Given the description of an element on the screen output the (x, y) to click on. 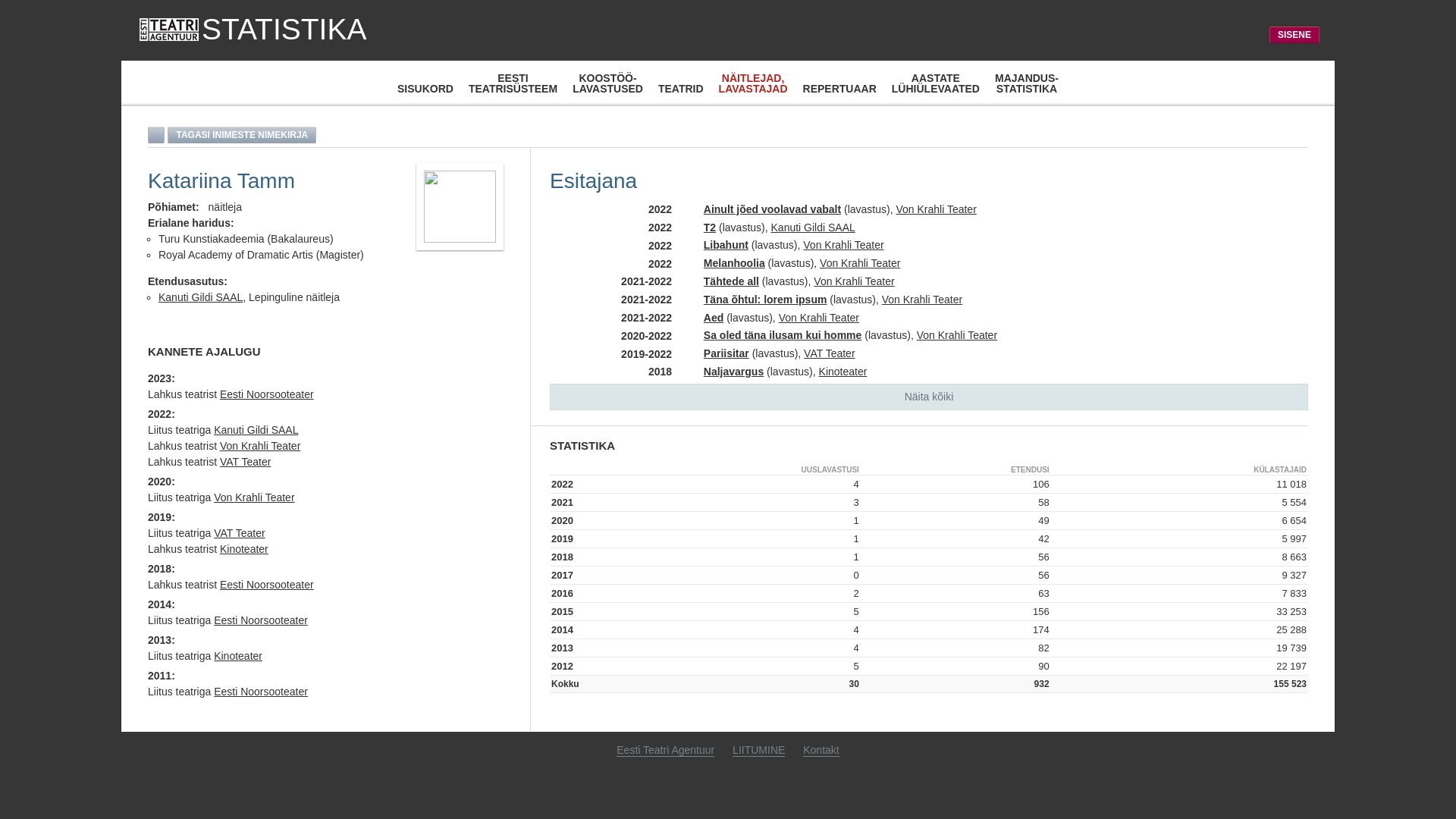
Eesti Noorsooteater Element type: text (260, 691)
Von Krahli Teater Element type: text (935, 209)
Naljavargus Element type: text (733, 371)
Libahunt Element type: text (725, 244)
Aed Element type: text (713, 317)
Von Krahli Teater Element type: text (921, 299)
Melanhoolia Element type: text (734, 263)
REPERTUAAR Element type: text (839, 88)
T2 Element type: text (709, 227)
Von Krahli Teater Element type: text (818, 317)
MAJANDUS-
STATISTIKA Element type: text (1026, 83)
Von Krahli Teater Element type: text (259, 445)
SISENE Element type: text (1294, 34)
Von Krahli Teater Element type: text (853, 281)
Eesti Noorsooteater Element type: text (260, 620)
Eesti Noorsooteater Element type: text (266, 584)
STATISTIKA Element type: text (252, 29)
Von Krahli Teater Element type: text (859, 263)
Kinoteater Element type: text (843, 371)
Von Krahli Teater Element type: text (843, 244)
LIITUMINE Element type: text (758, 749)
SISUKORD Element type: text (425, 88)
Eesti Teatri Agentuur Element type: text (665, 749)
Kanuti Gildi SAAL Element type: text (813, 227)
Pariisitar Element type: text (726, 353)
VAT Teater Element type: text (828, 353)
VAT Teater Element type: text (244, 461)
Von Krahli Teater Element type: text (253, 497)
Kinoteater Element type: text (237, 655)
Kontakt Element type: text (820, 749)
VAT Teater Element type: text (238, 533)
Kanuti Gildi SAAL Element type: text (255, 429)
Kinoteater Element type: text (243, 548)
TEATRID Element type: text (680, 88)
TAGASI INIMESTE NIMEKIRJA Element type: text (241, 134)
Von Krahli Teater Element type: text (956, 335)
Kanuti Gildi SAAL Element type: text (200, 297)
Eesti Noorsooteater Element type: text (266, 394)
1K-Digital Element type: text (1339, 715)
